Given the description of an element on the screen output the (x, y) to click on. 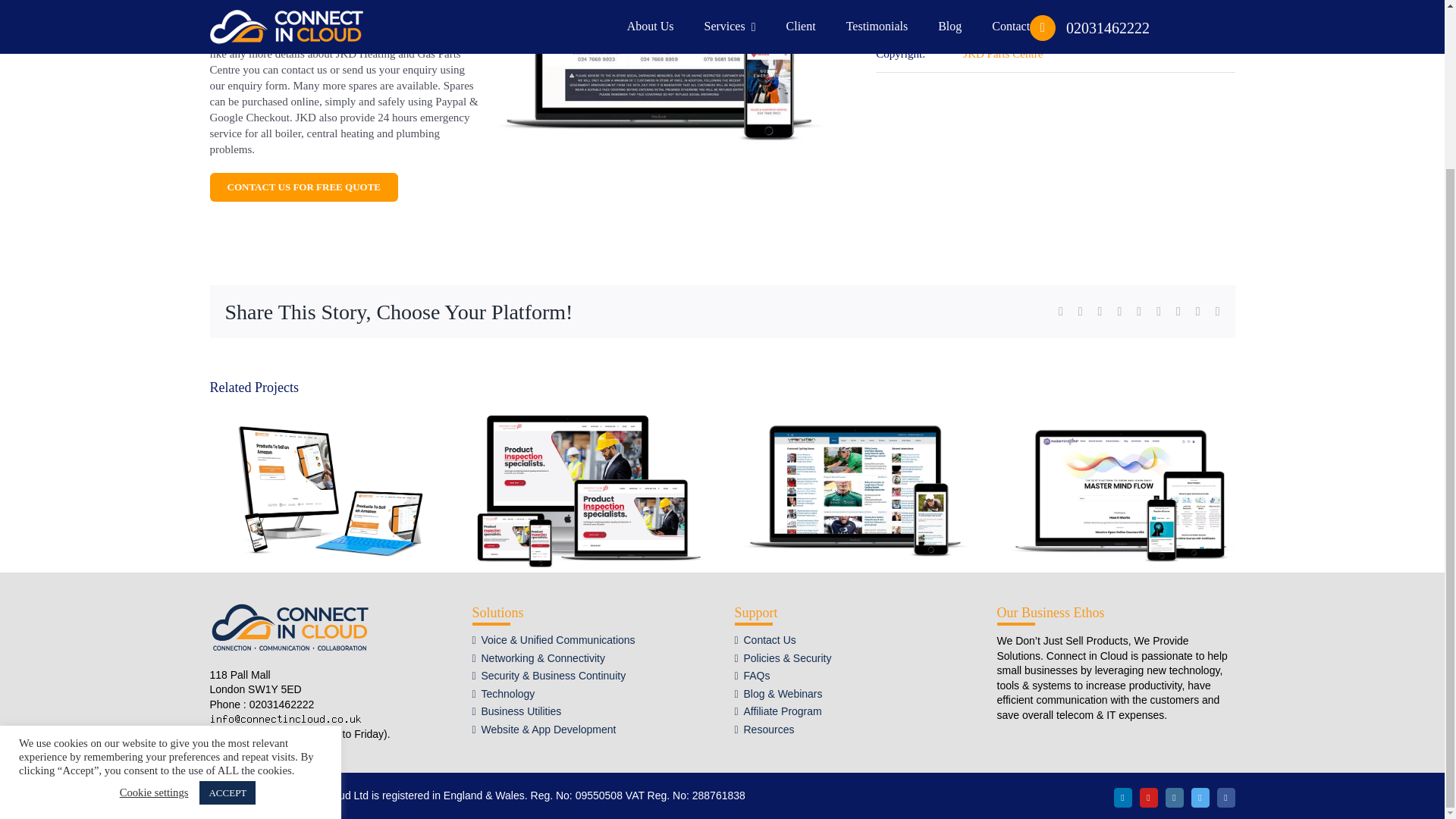
YouTube (1147, 797)
JKD Parts Centre (1002, 53)
Twitter (1199, 797)
www.jkdpartscentre.com (1019, 16)
CONTACT US FOR FREE QUOTE (303, 186)
Facebook (1224, 797)
JKD 2 (659, 78)
Instagram (1173, 797)
LinkedIn (1122, 797)
